Given the description of an element on the screen output the (x, y) to click on. 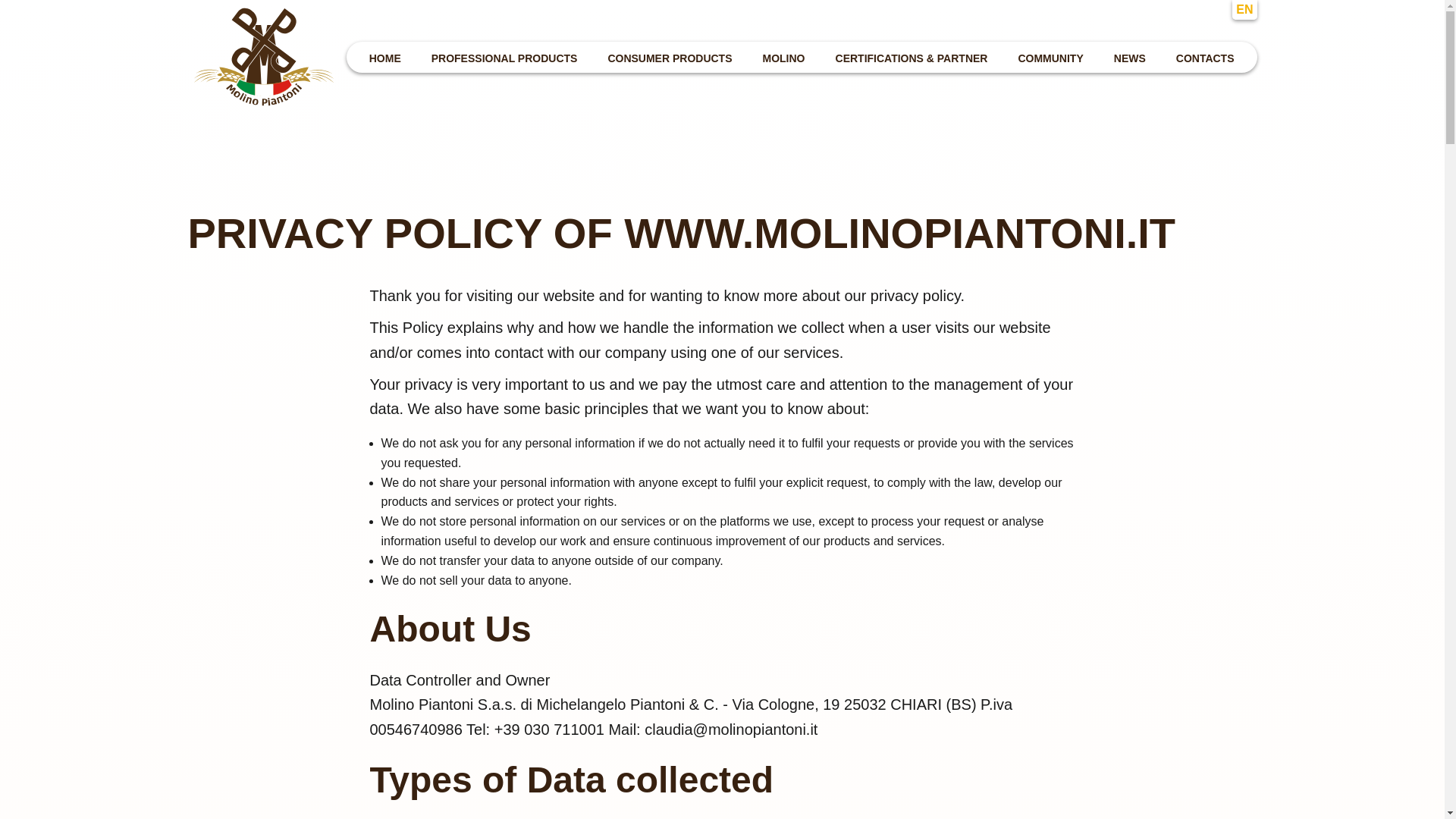
CONTACTS (1205, 56)
CONSUMER PRODUCTS (669, 56)
NEWS (1129, 56)
MOLINO (783, 56)
HOME (385, 56)
EN (1243, 9)
COMMUNITY (1050, 56)
PROFESSIONAL PRODUCTS (504, 56)
